Given the description of an element on the screen output the (x, y) to click on. 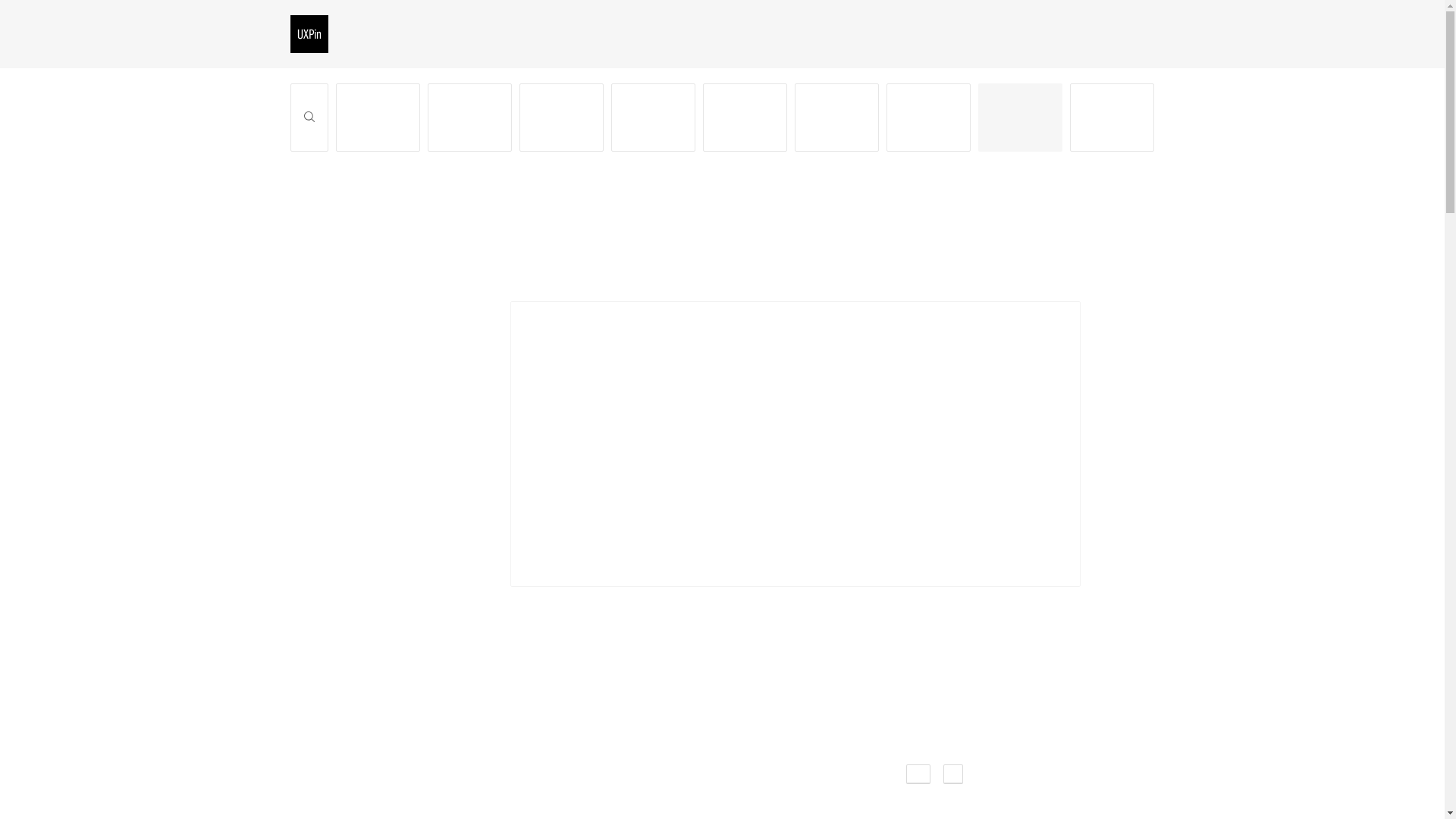
How-to (1020, 117)
Merge (836, 117)
Design Systems (745, 117)
Resources (613, 32)
States (999, 271)
Enterprise (470, 32)
Tips and Tricks (1112, 117)
Account (928, 117)
Getting Started (376, 117)
Testimonials (387, 32)
Pricing (540, 32)
Editor (470, 117)
Dashboard (653, 117)
Sharing (561, 117)
Login (1141, 32)
